Given the description of an element on the screen output the (x, y) to click on. 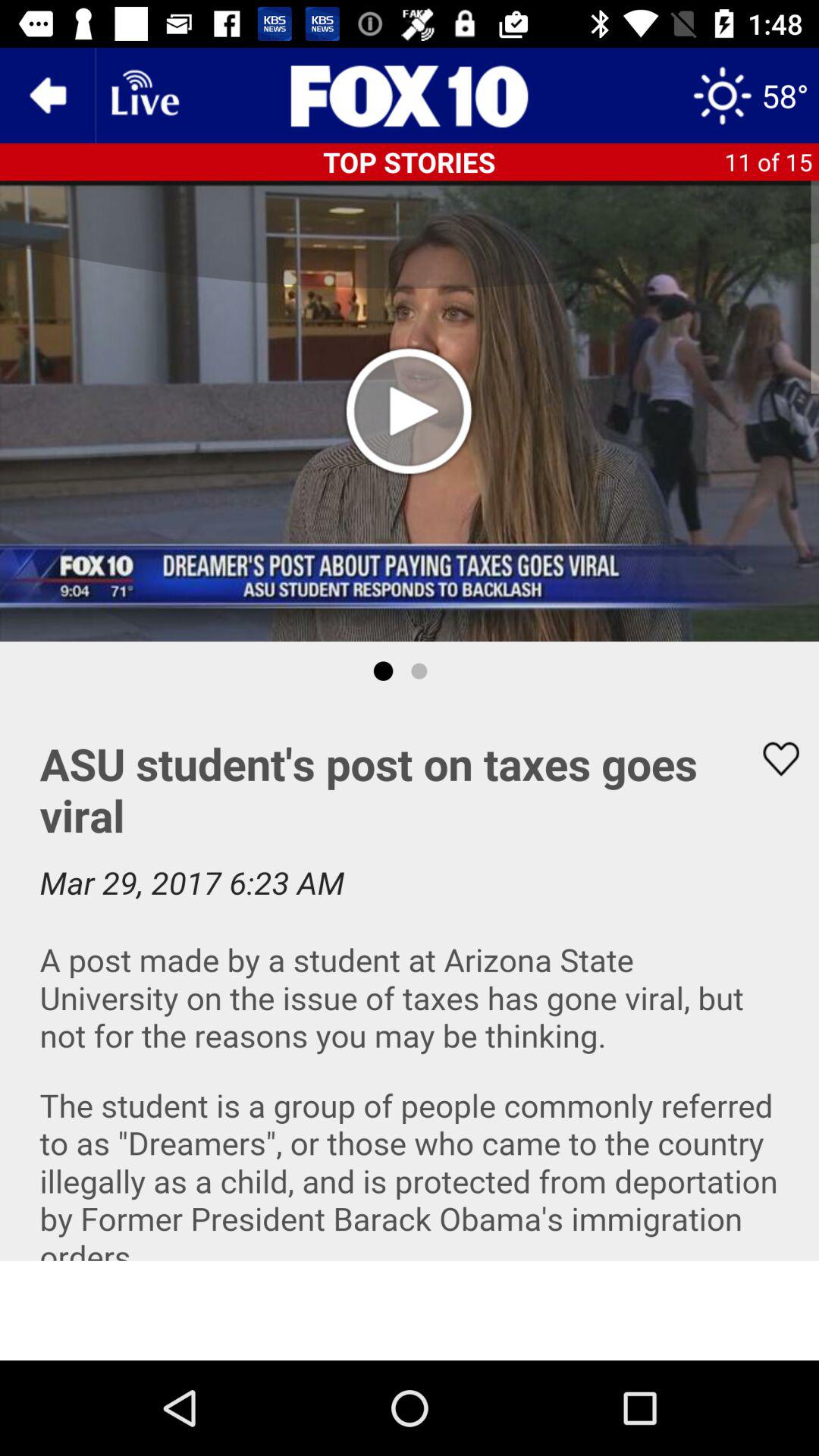
mite page (409, 1310)
